Given the description of an element on the screen output the (x, y) to click on. 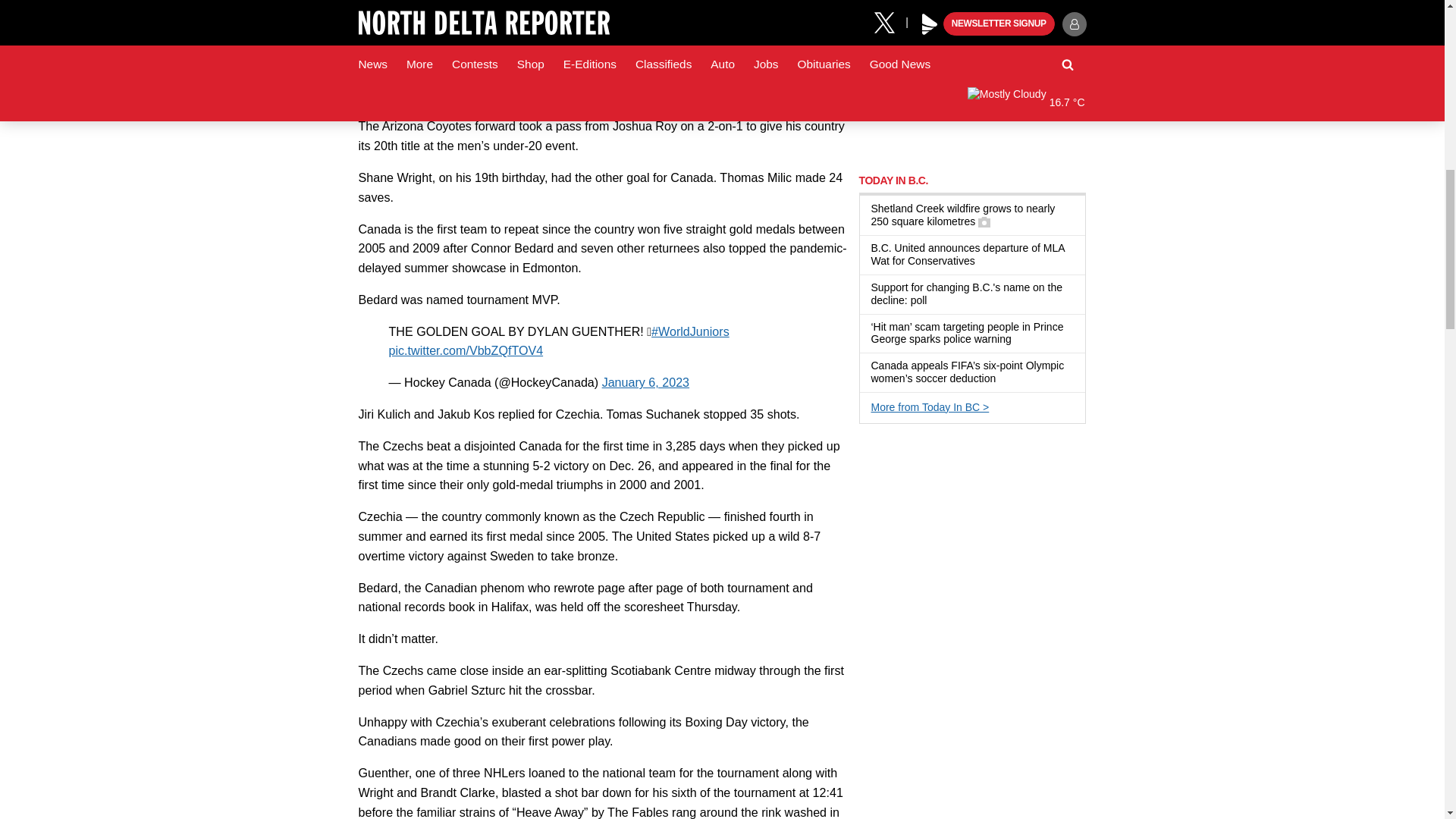
Has a gallery (984, 222)
